Given the description of an element on the screen output the (x, y) to click on. 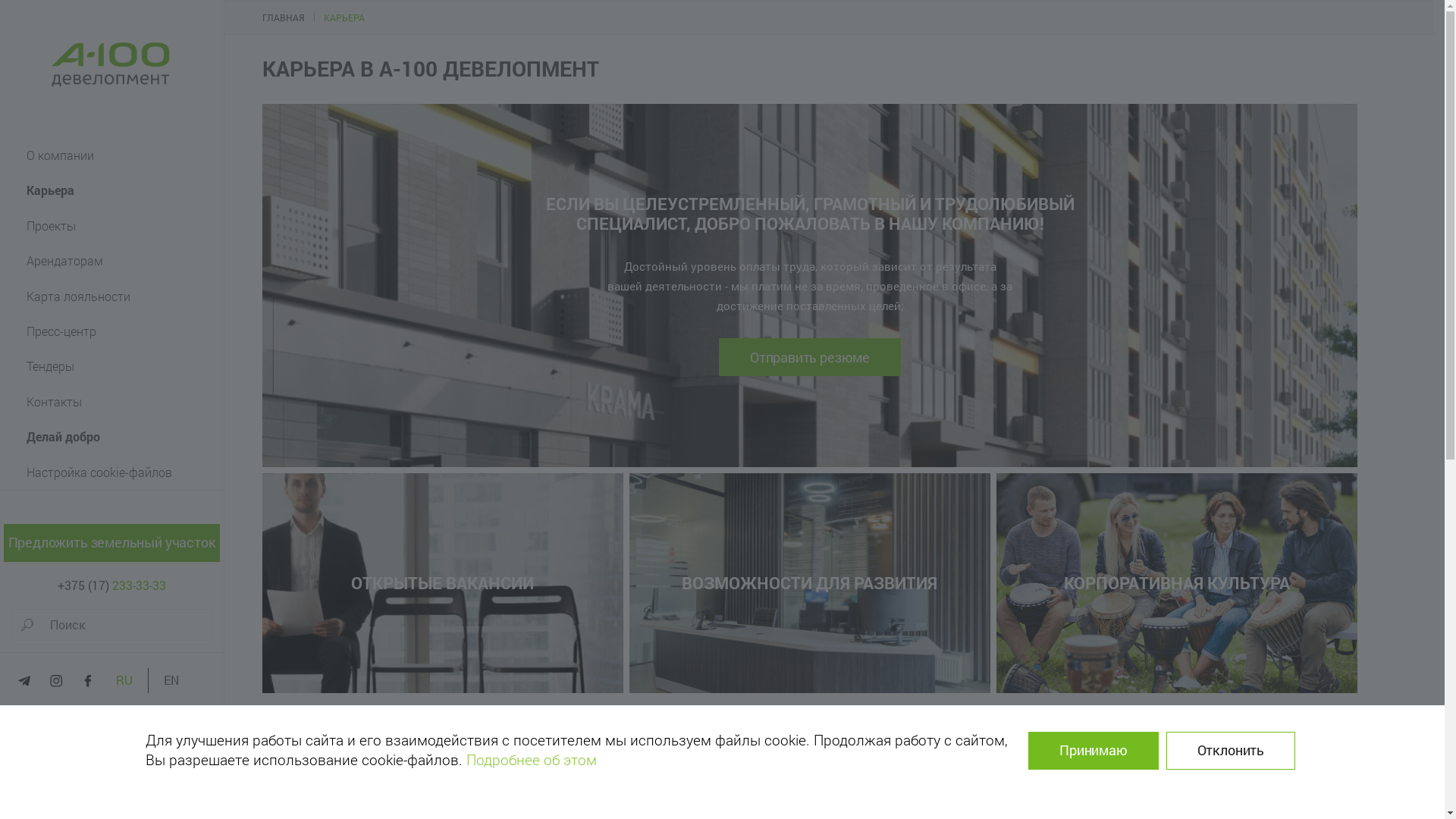
RU Element type: text (123, 680)
+375 (17) 233-33-33 Element type: text (111, 585)
EN Element type: text (170, 680)
a-100 Element type: hover (111, 64)
